Given the description of an element on the screen output the (x, y) to click on. 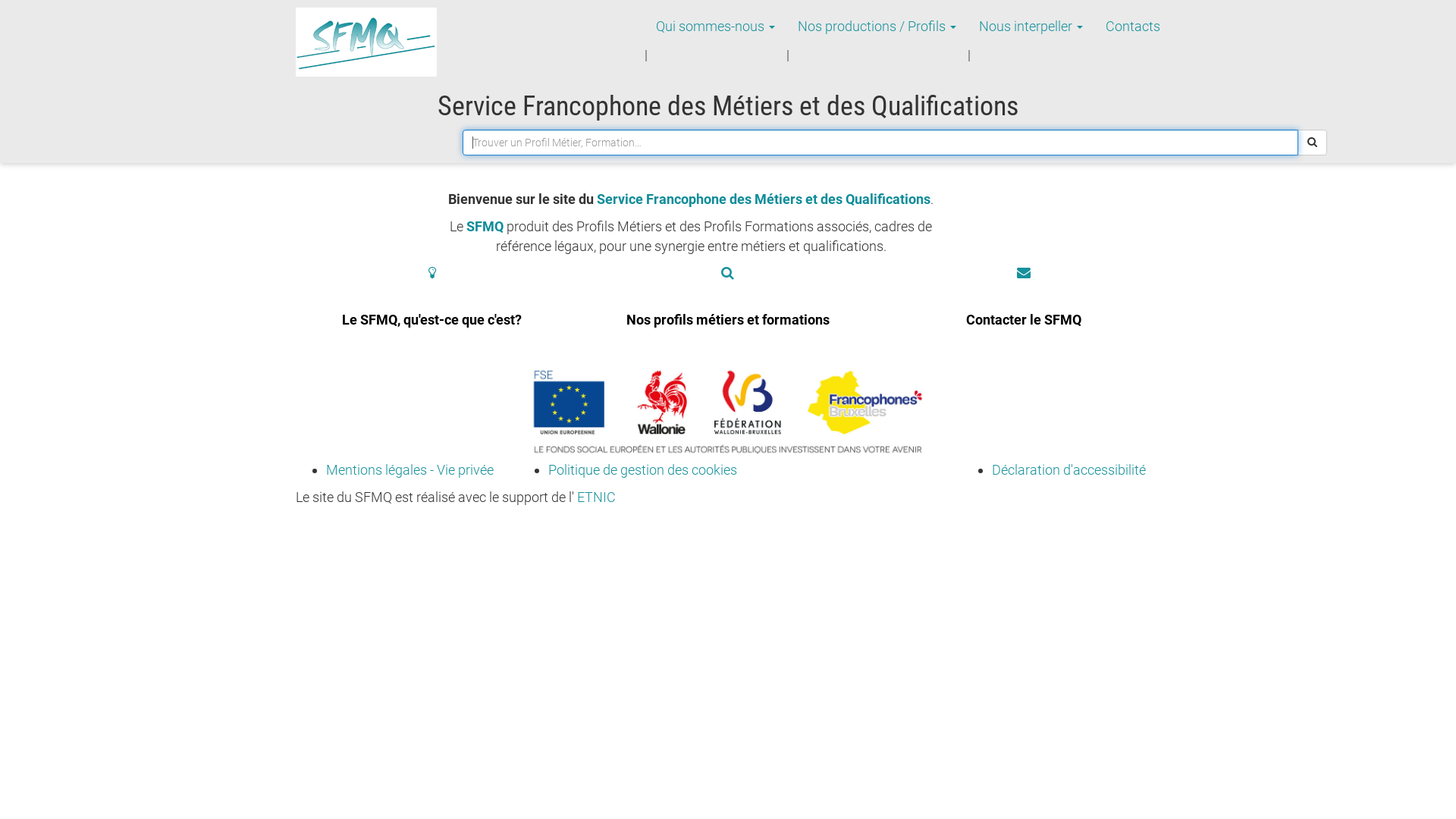
ETNIC Element type: text (596, 497)
Qui sommes-nous Element type: text (715, 26)
Politique de gestion des cookies Element type: text (641, 469)
  Le SFMQ, qu'est-ce que c'est?
  Element type: text (431, 309)
Aller au contenu Element type: text (294, 6)
Contacts Element type: text (1132, 26)
Nous interpeller Element type: text (1030, 26)
  Contacter le SFMQ
  Element type: text (1023, 309)
selected Element type: text (365, 41)
Nos productions / Profils Element type: text (876, 26)
